Given the description of an element on the screen output the (x, y) to click on. 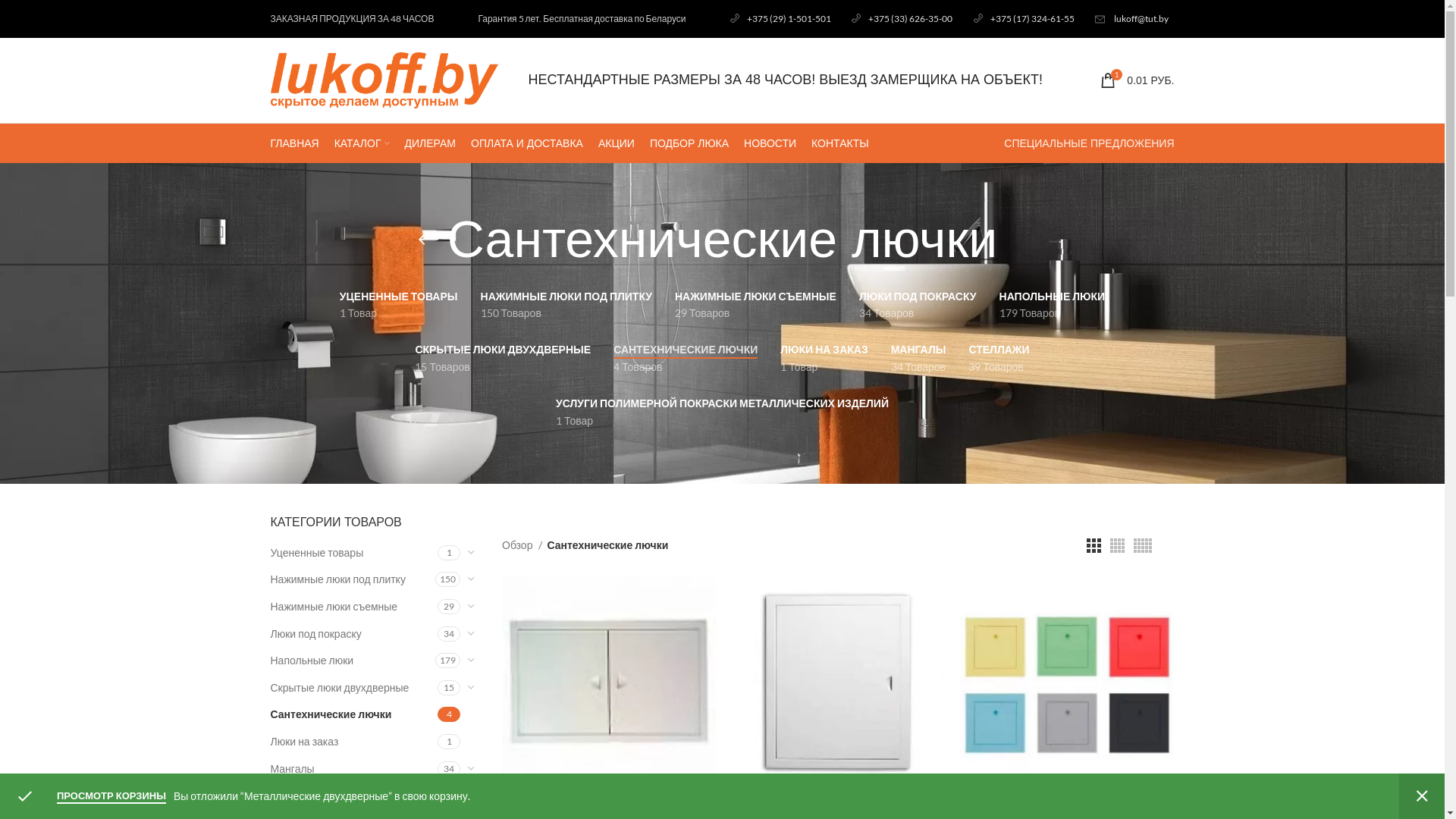
+375 (33) 626-35-00 Element type: text (901, 18)
lukoff@tut.by Element type: text (1140, 18)
+375 (17) 324-61-55 Element type: text (1023, 18)
+375 (29) 1-501-501 Element type: text (779, 18)
